Given the description of an element on the screen output the (x, y) to click on. 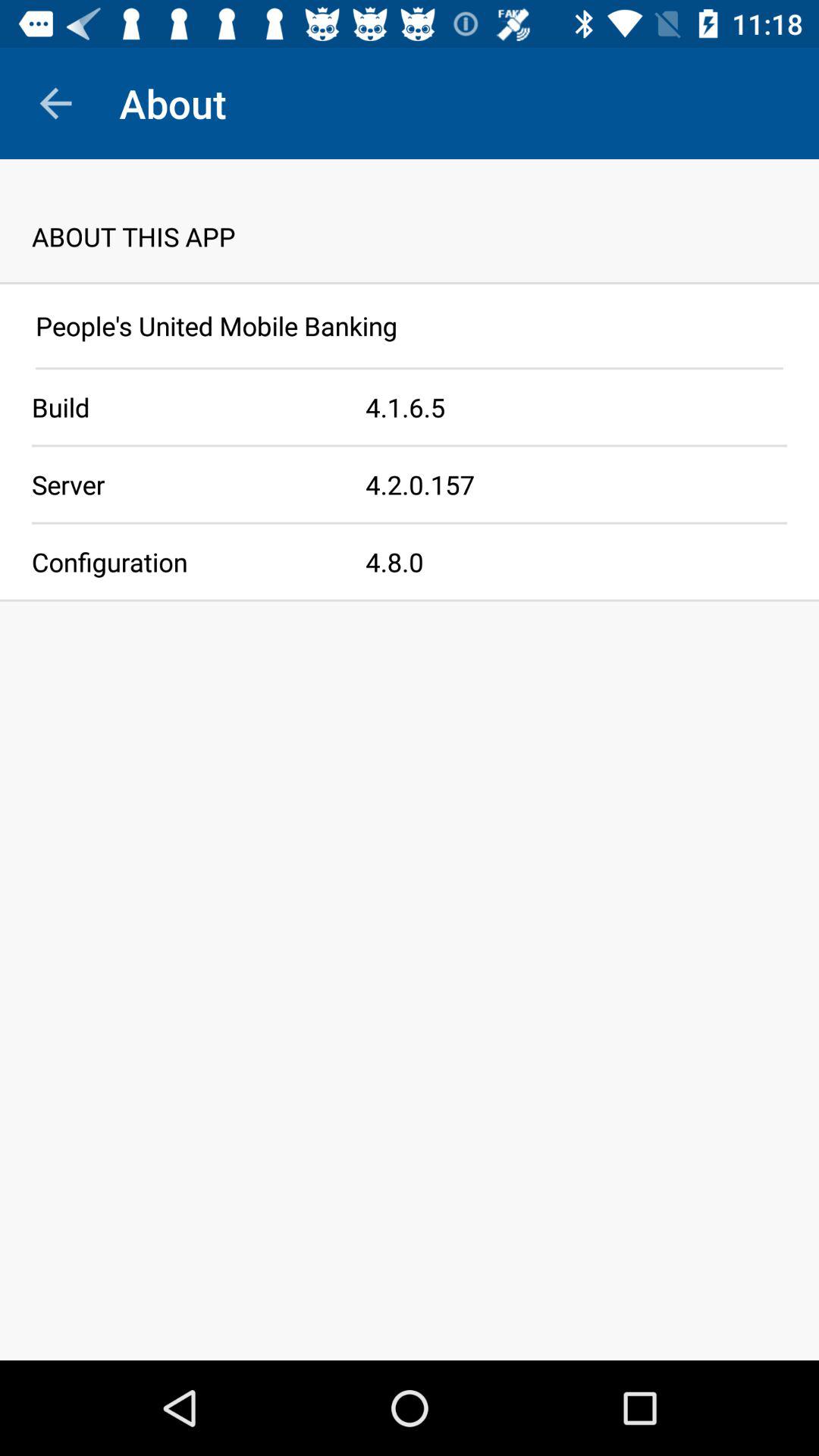
open configuration app (182, 561)
